Given the description of an element on the screen output the (x, y) to click on. 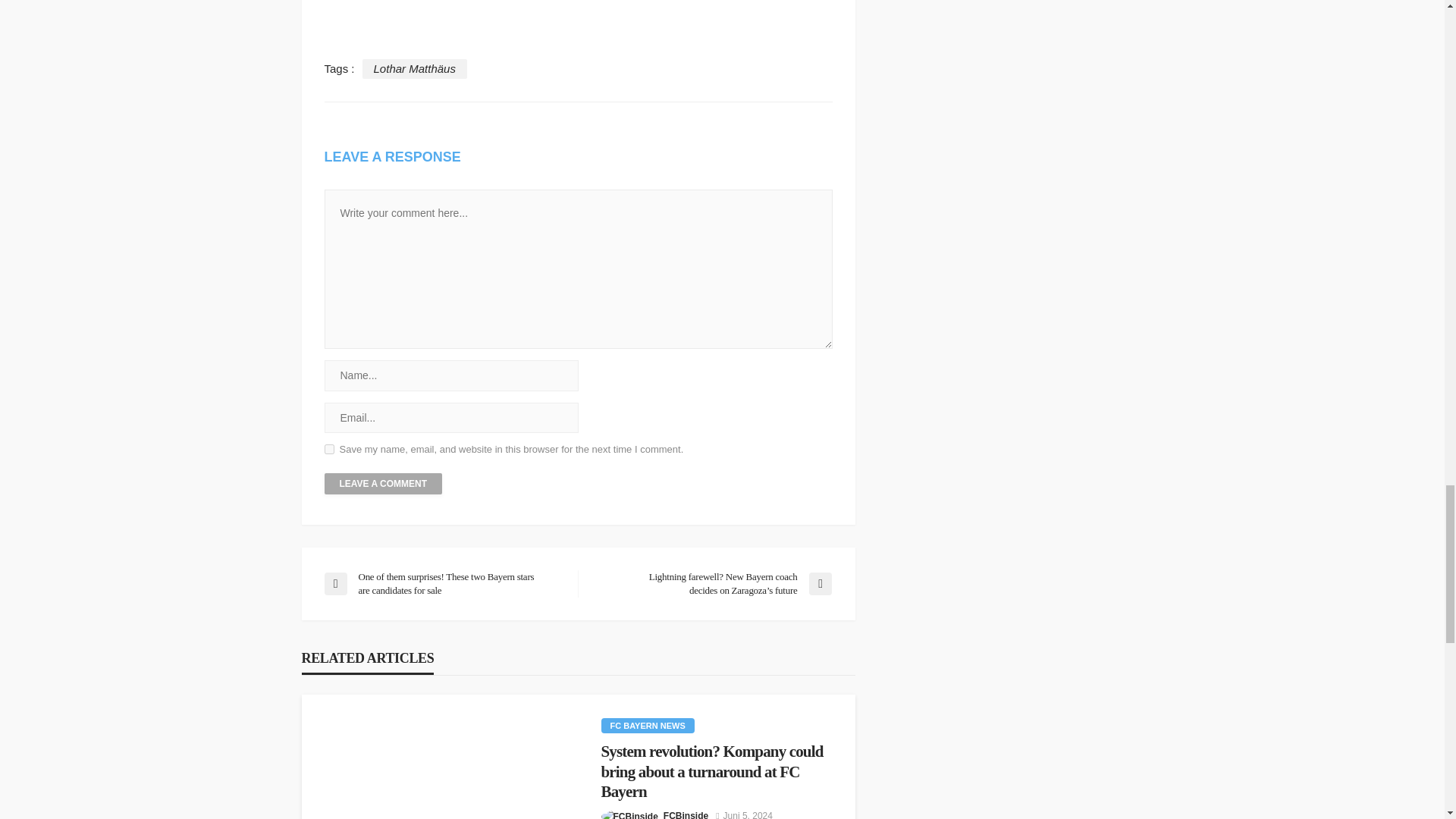
FC BAYERN NEWS (646, 725)
Leave a comment (383, 483)
Leave a comment (383, 483)
yes (329, 449)
